Given the description of an element on the screen output the (x, y) to click on. 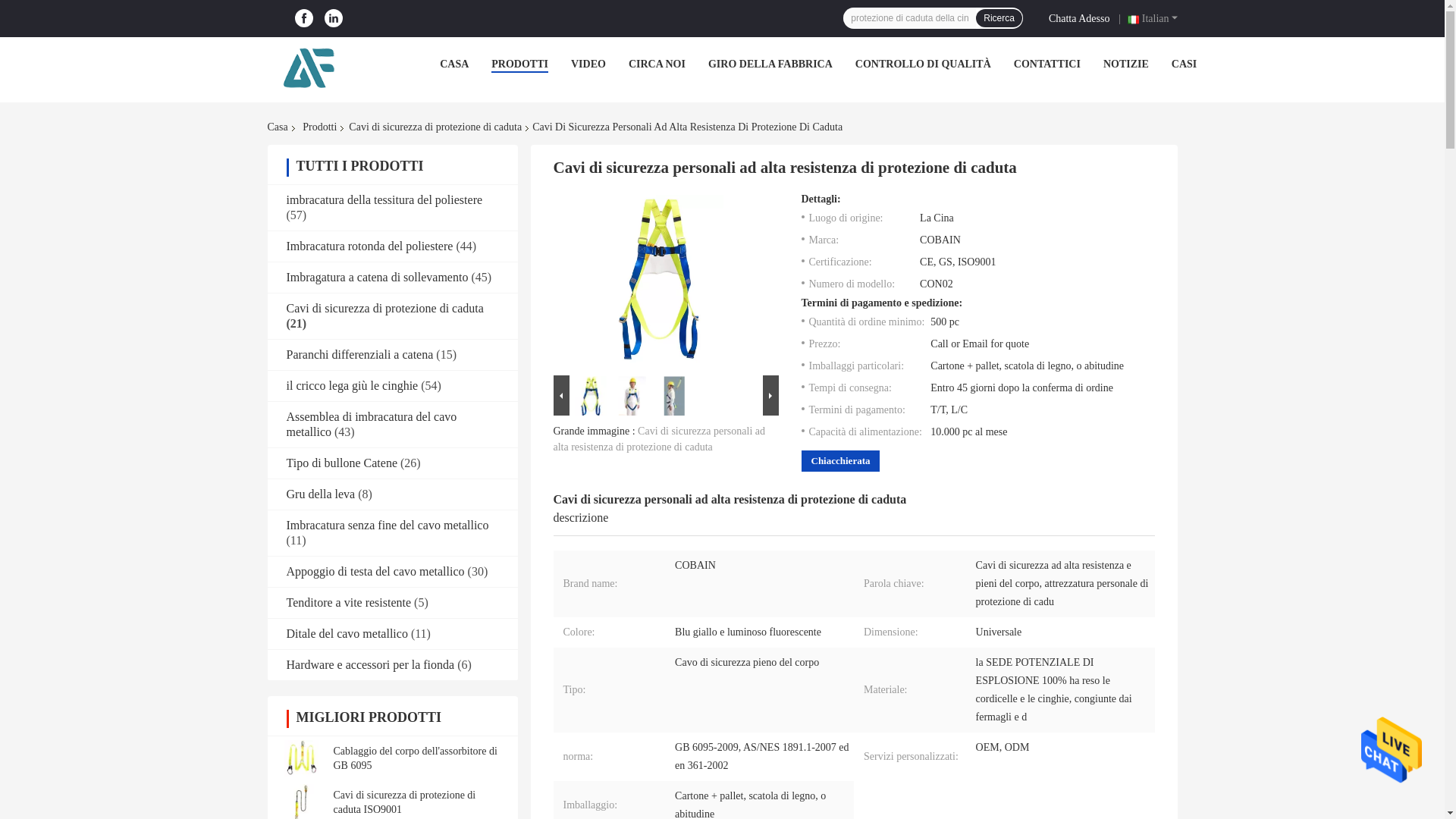
CONTATTICI (1046, 63)
Cavi di sicurezza di protezione di caduta (384, 308)
Prodotti (319, 127)
Cavi di sicurezza di protezione di caduta (434, 127)
Paranchi differenziali a catena (359, 354)
PRODOTTI (520, 63)
VIDEO (587, 63)
Ricerca (998, 18)
Imbragatura a catena di sollevamento (377, 277)
CASI (1184, 63)
CASA (453, 63)
CIRCA NOI (656, 63)
GIRO DELLA FABBRICA (769, 63)
imbracatura della tessitura del poliestere (384, 199)
Casa (280, 127)
